Given the description of an element on the screen output the (x, y) to click on. 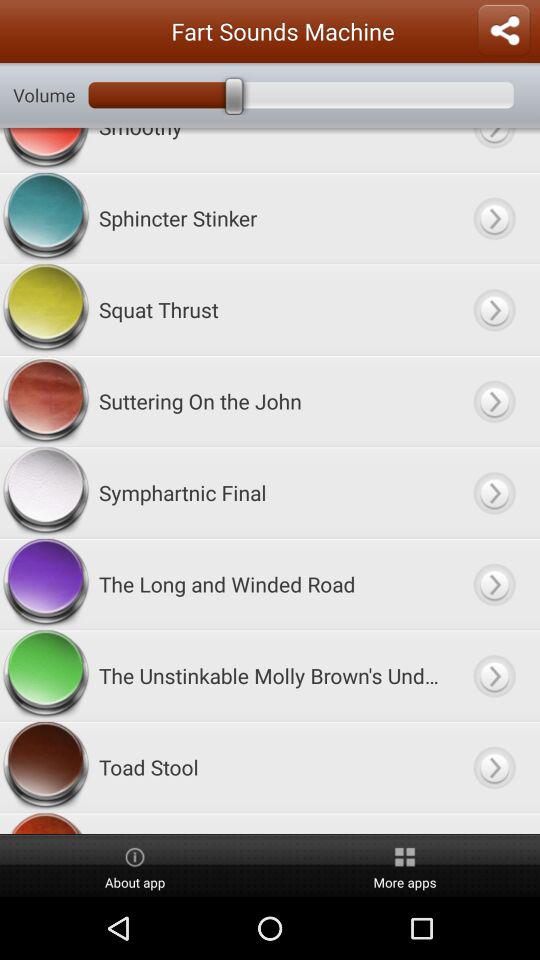
tap icon to the right of fart sounds machine icon (503, 31)
